Given the description of an element on the screen output the (x, y) to click on. 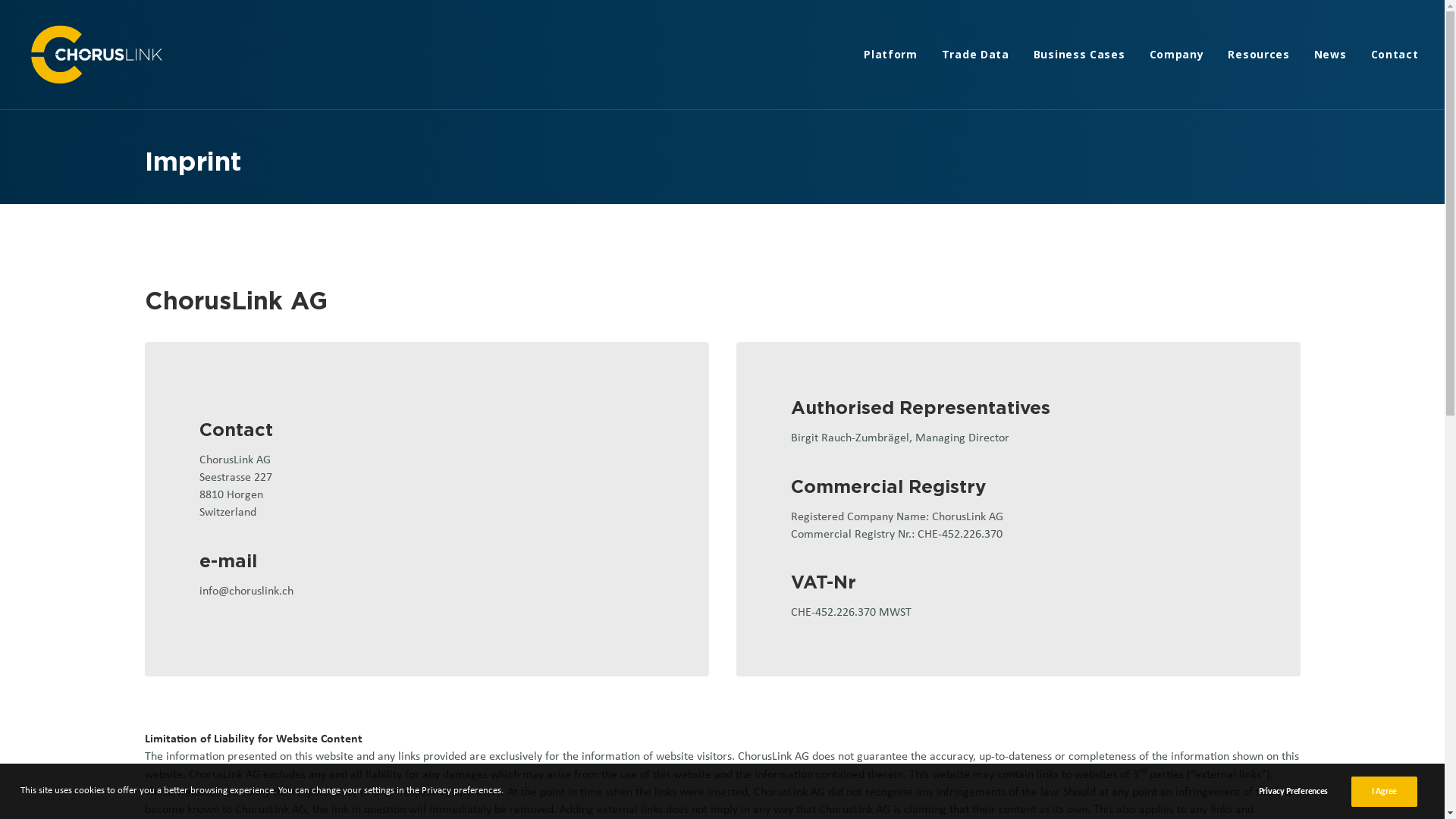
Business Cases Element type: text (1078, 54)
Platform Element type: text (895, 54)
News Element type: text (1330, 54)
Trade Data Element type: text (975, 54)
Privacy Preferences Element type: text (1303, 791)
Resources Element type: text (1258, 54)
Contact Element type: text (1389, 54)
Company Element type: text (1176, 54)
I Agree Element type: text (1384, 791)
